Given the description of an element on the screen output the (x, y) to click on. 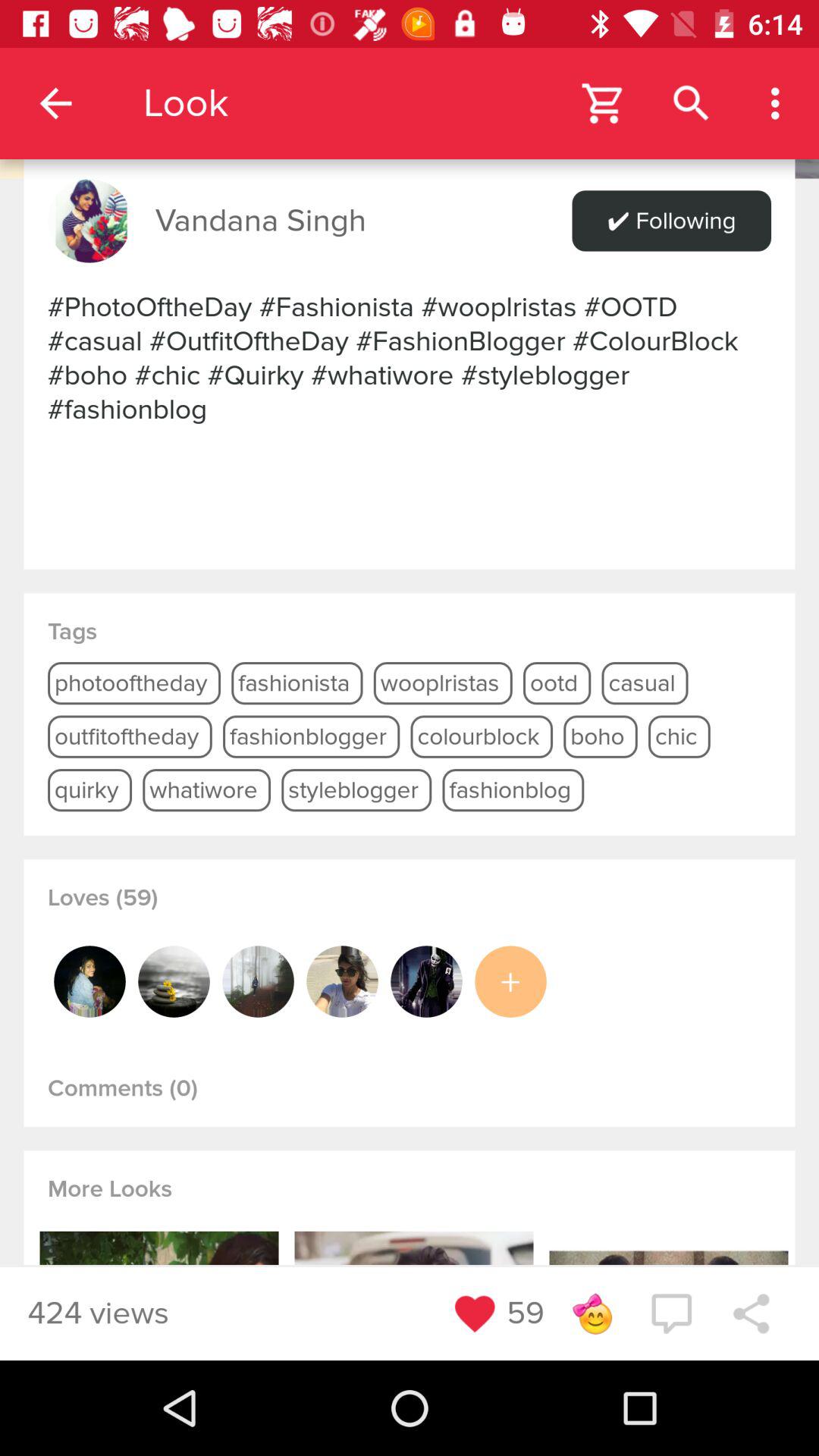
open the person 's profile (89, 981)
